Given the description of an element on the screen output the (x, y) to click on. 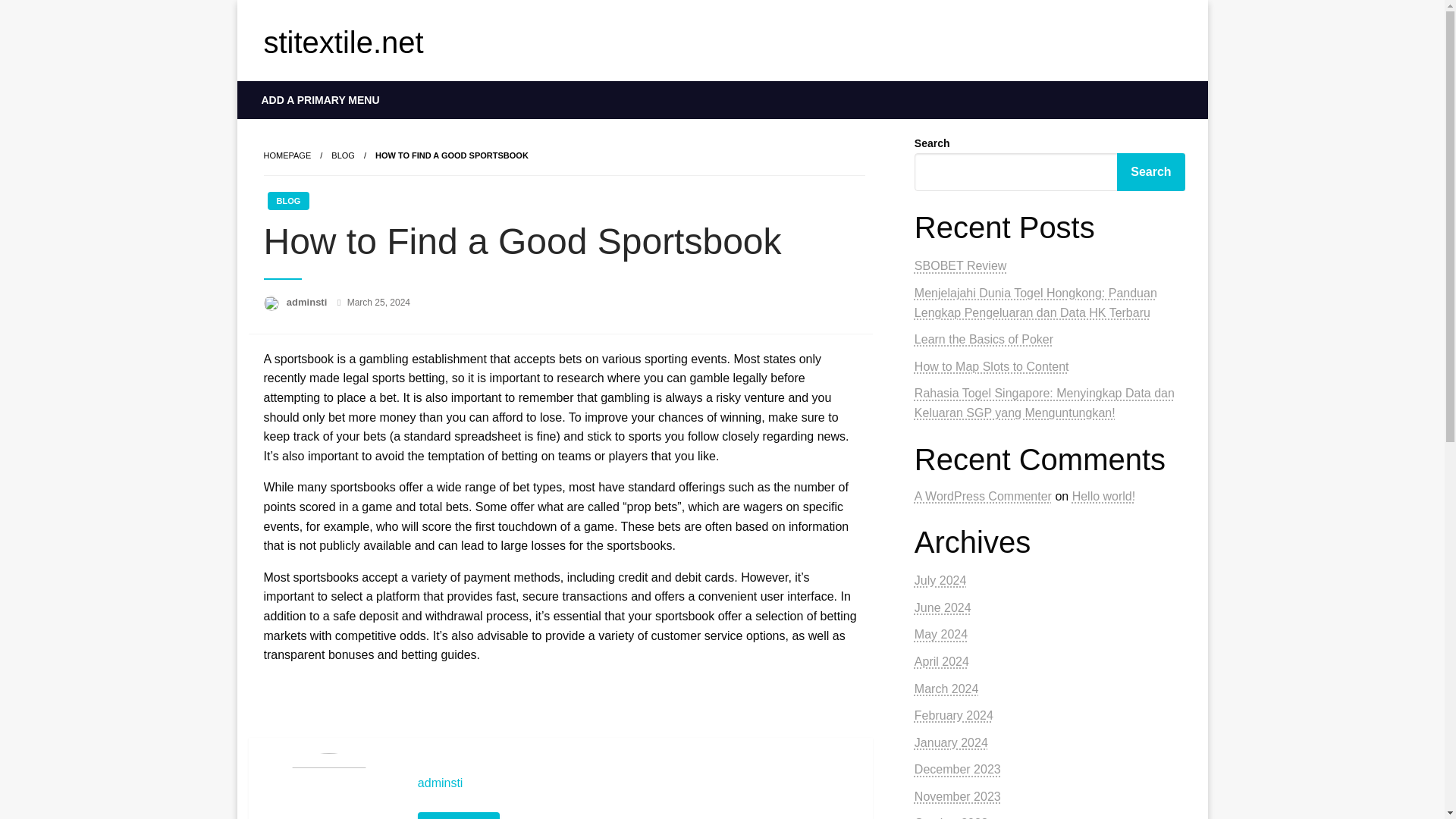
BLOG (287, 200)
June 2024 (942, 607)
March 25, 2024 (378, 302)
HOMEPAGE (287, 154)
adminsti (308, 301)
How to Map Slots to Content (991, 366)
stitextile.net (343, 41)
July 2024 (940, 580)
May 2024 (941, 634)
A WordPress Commenter (982, 495)
adminsti (637, 783)
Homepage (287, 154)
Learn the Basics of Poker (983, 338)
Search (1150, 171)
April 2024 (941, 661)
